Given the description of an element on the screen output the (x, y) to click on. 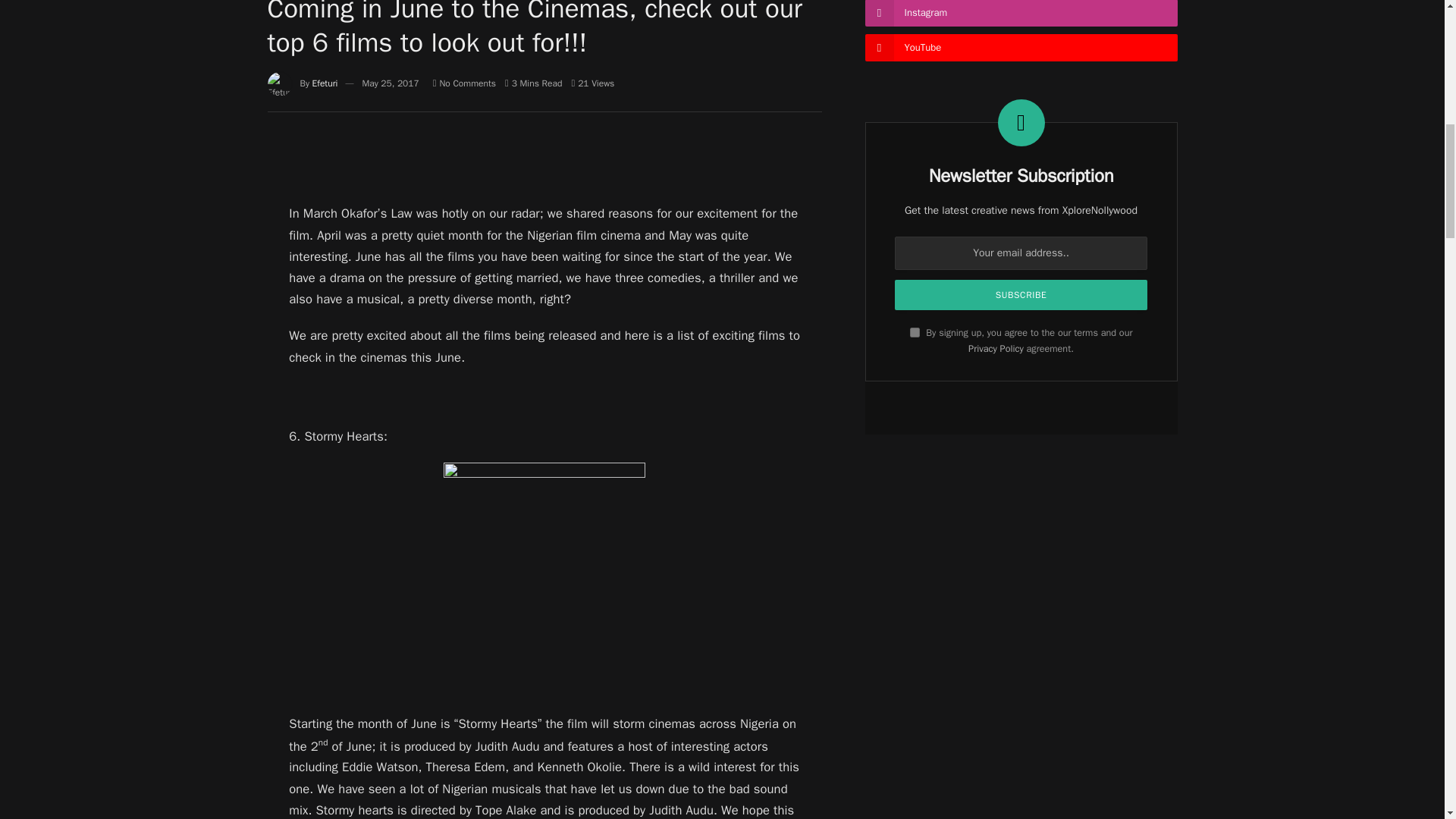
on (915, 332)
Subscribe (1021, 295)
21 Article Views (592, 82)
Posts by Efeturi (325, 82)
